Given the description of an element on the screen output the (x, y) to click on. 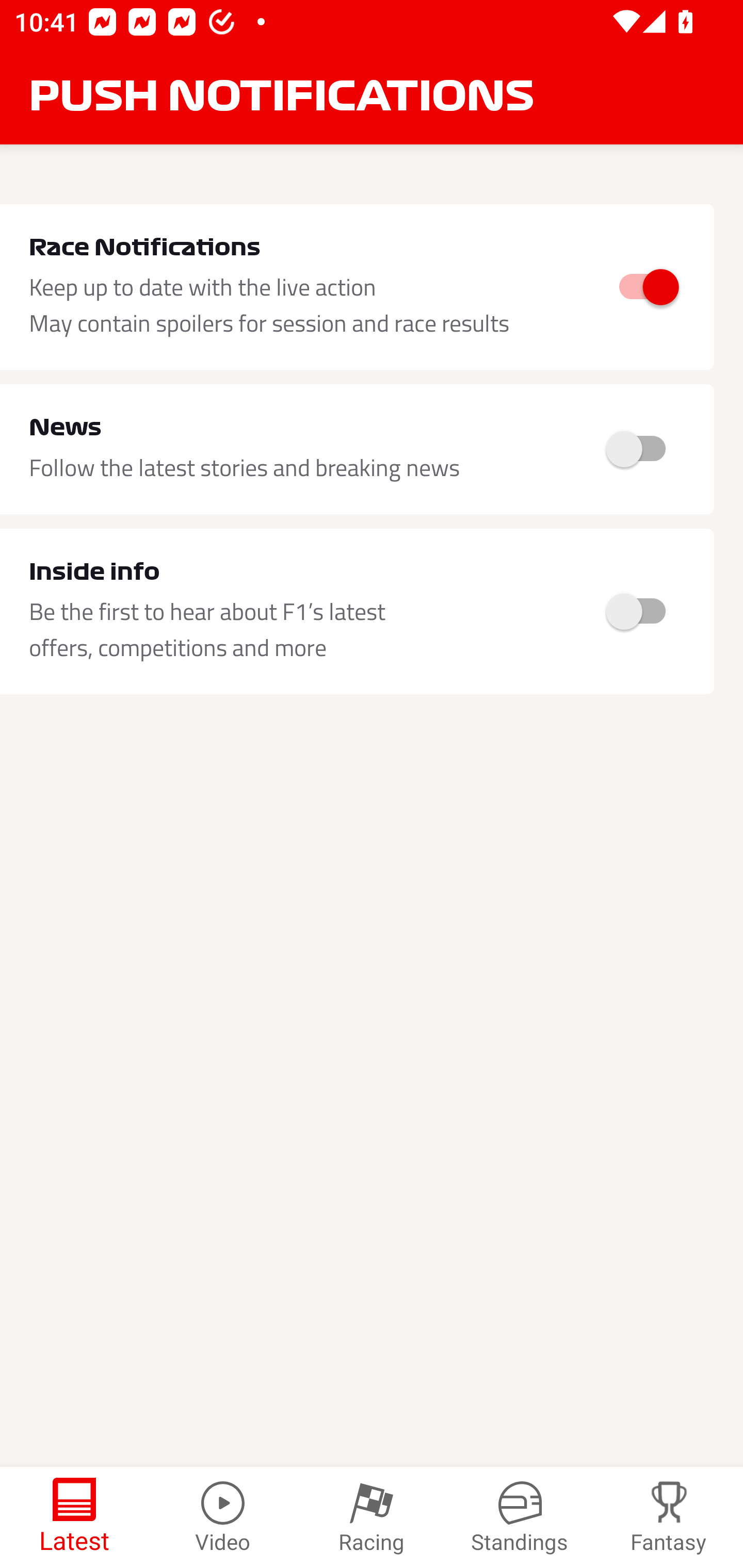
Video (222, 1517)
Racing (371, 1517)
Standings (519, 1517)
Fantasy (668, 1517)
